Given the description of an element on the screen output the (x, y) to click on. 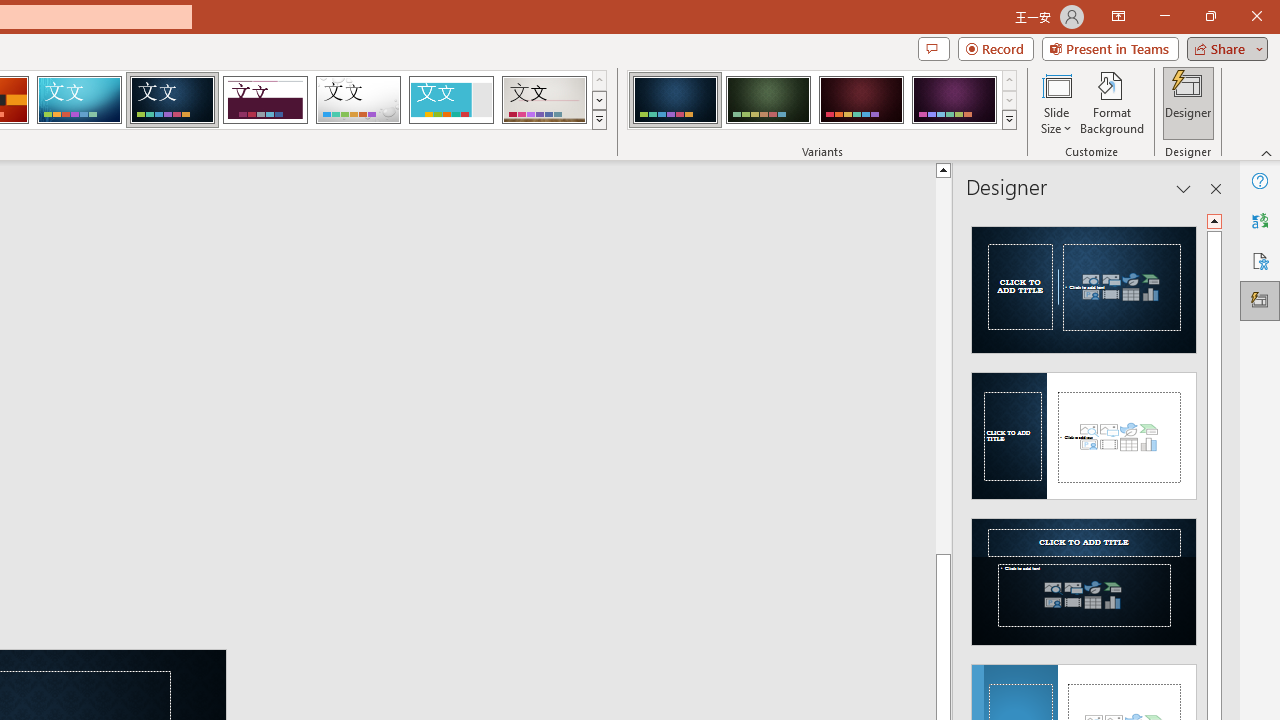
Circuit (79, 100)
Damask Variant 2 (768, 100)
